Given the description of an element on the screen output the (x, y) to click on. 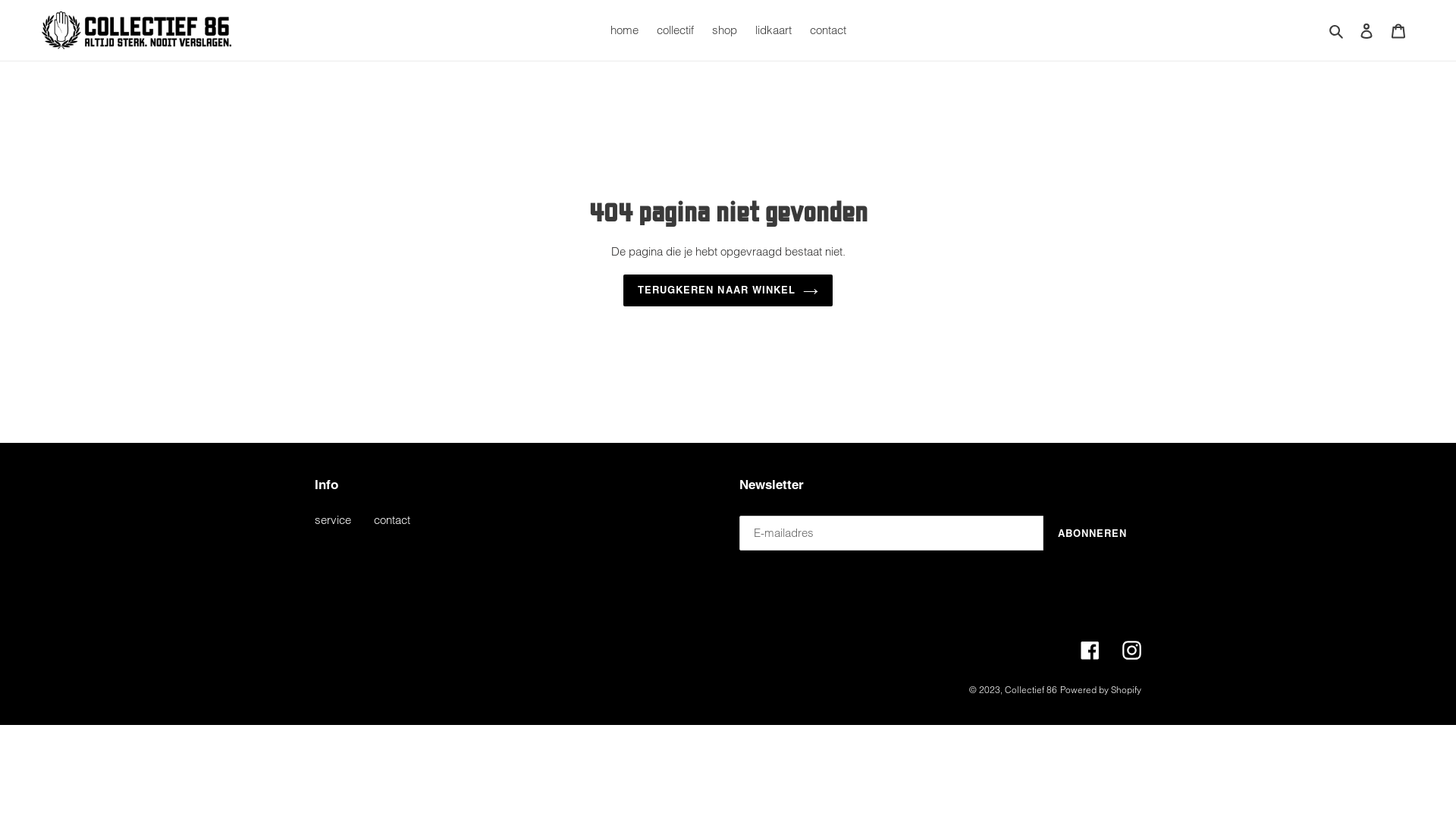
Facebook Element type: text (1089, 649)
home Element type: text (623, 30)
ABONNEREN Element type: text (1092, 532)
Aanmelden Element type: text (1366, 30)
TERUGKEREN NAAR WINKEL Element type: text (727, 290)
lidkaart Element type: text (773, 30)
shop Element type: text (723, 30)
Instagram Element type: text (1131, 649)
contact Element type: text (827, 30)
Zoeken Element type: text (1337, 30)
Winkelwagen Element type: text (1398, 30)
contact Element type: text (391, 519)
Collectief 86 Element type: text (1030, 689)
service Element type: text (332, 519)
collectif Element type: text (675, 30)
